Given the description of an element on the screen output the (x, y) to click on. 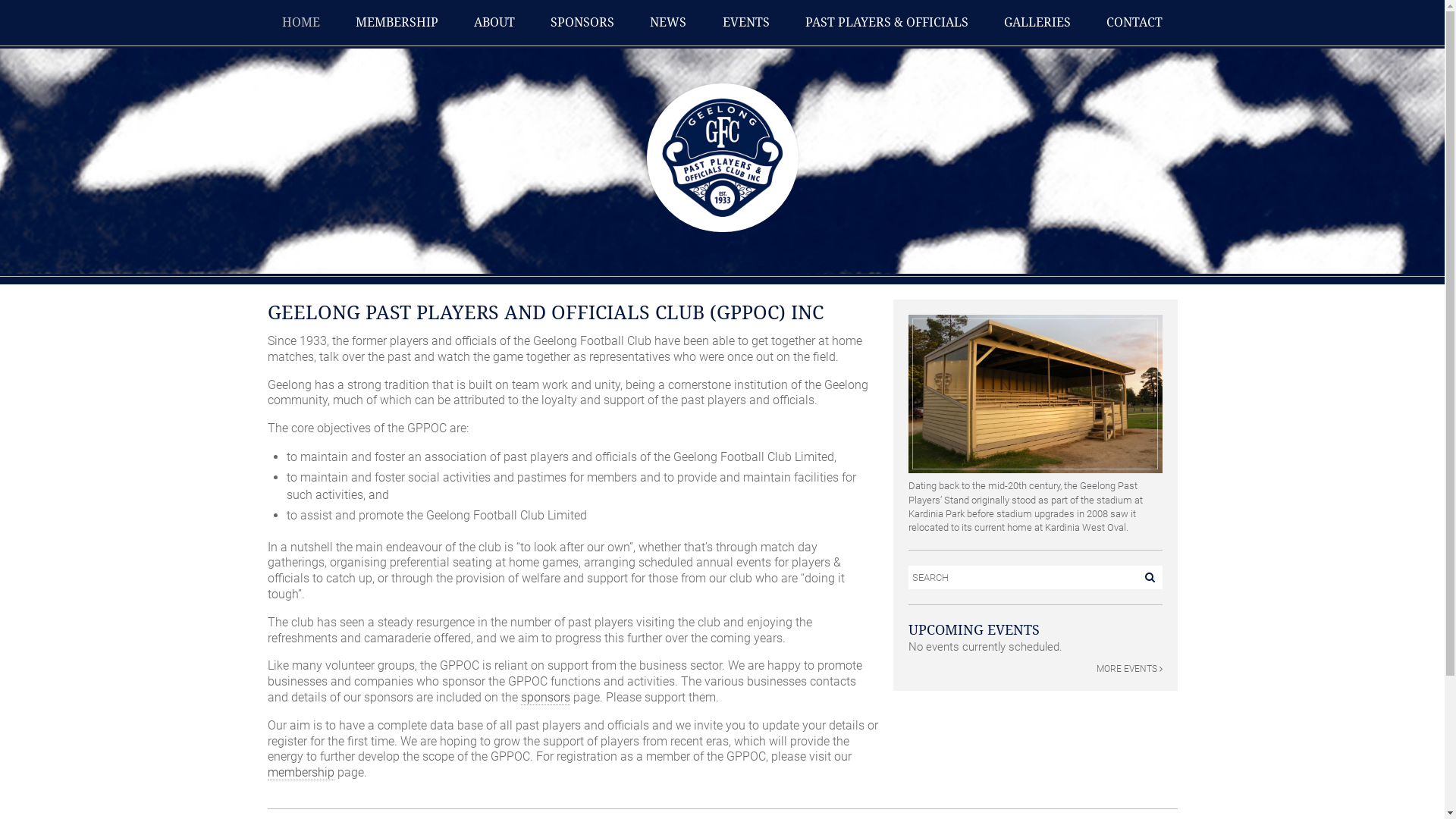
PAST PLAYERS & OFFICIALS Element type: text (886, 22)
EVENTS Element type: text (745, 22)
MEMBERSHIP Element type: text (396, 22)
SPONSORS Element type: text (582, 22)
HOME Element type: text (301, 22)
MORE EVENTS Element type: text (1035, 668)
sponsors Element type: text (544, 697)
CONTACT Element type: text (1134, 22)
GALLERIES Element type: text (1037, 22)
NEWS Element type: text (667, 22)
membership Element type: text (299, 772)
ABOUT Element type: text (493, 22)
